Given the description of an element on the screen output the (x, y) to click on. 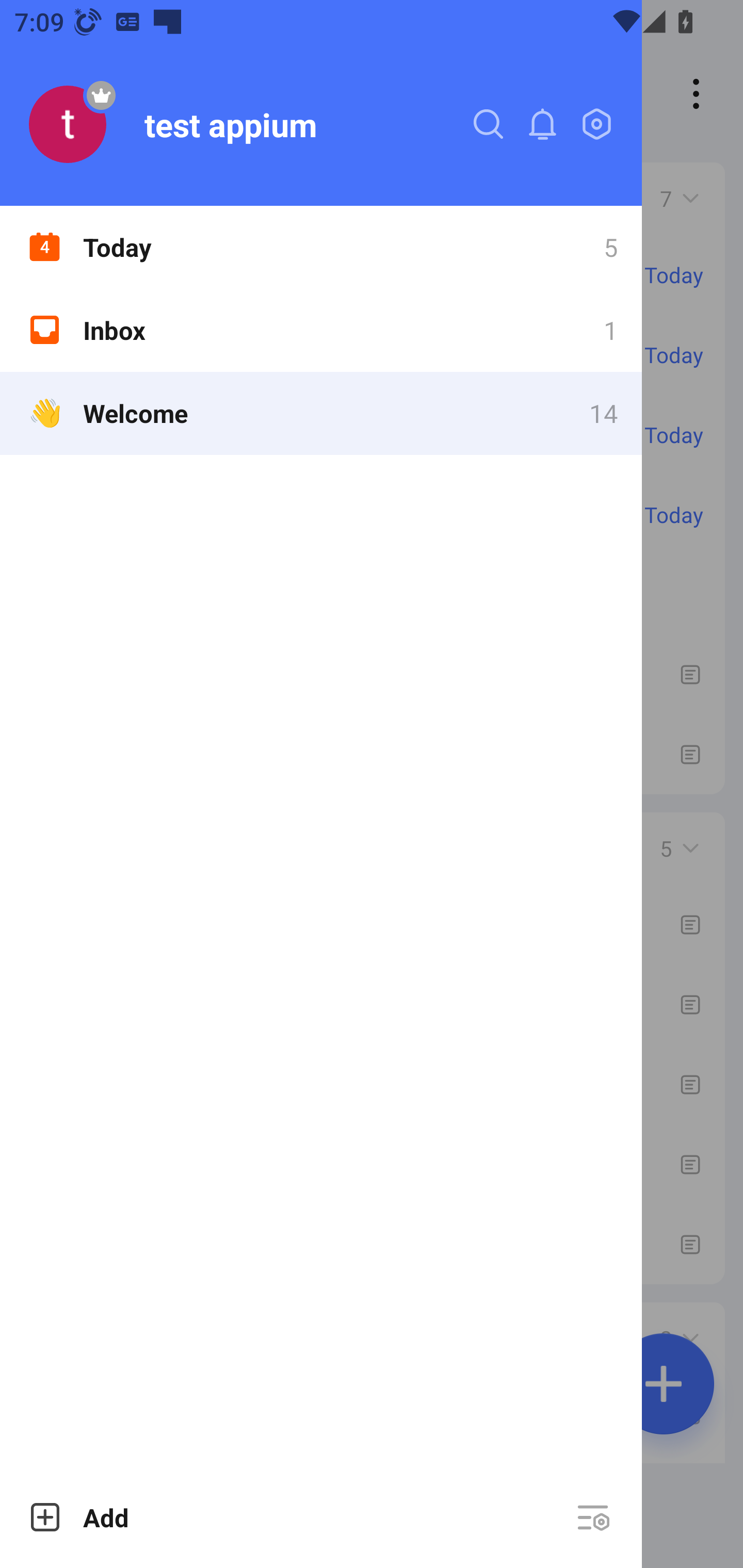
test appium (230, 123)
Today 5 (320, 246)
Inbox 1 (320, 329)
👋 Welcome 14 (320, 412)
Add (78, 1517)
